Given the description of an element on the screen output the (x, y) to click on. 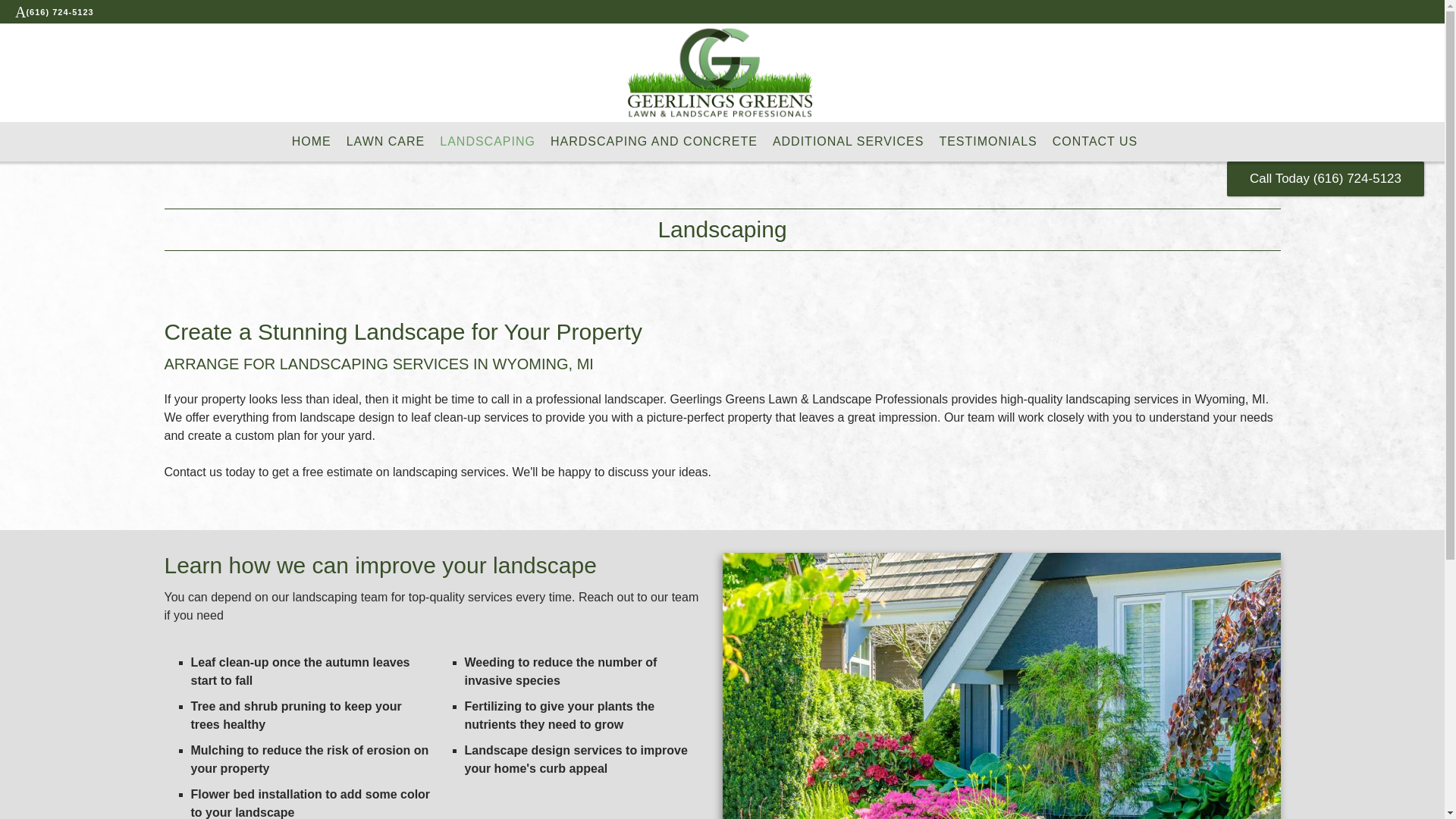
ADDITIONAL SERVICES (848, 141)
CONTACT US (1095, 141)
TESTIMONIALS (987, 141)
HARDSCAPING AND CONCRETE (653, 141)
LAWN CARE (385, 141)
HOME (311, 141)
LANDSCAPING (487, 141)
Learn how we can improve your landscape (379, 564)
